Given the description of an element on the screen output the (x, y) to click on. 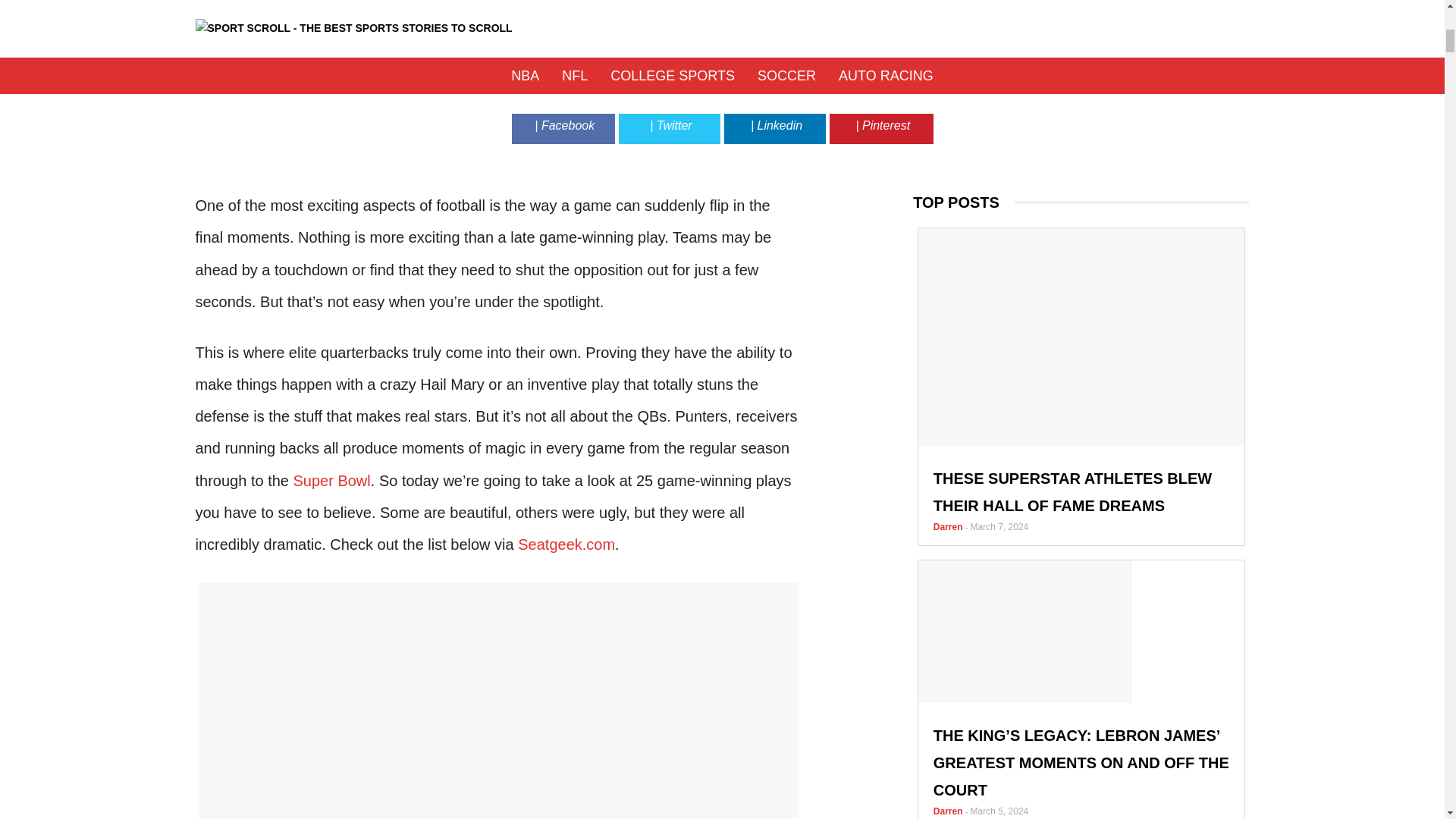
Seatgeek.com (566, 544)
Super Bowl (330, 480)
Darren (655, 73)
